Given the description of an element on the screen output the (x, y) to click on. 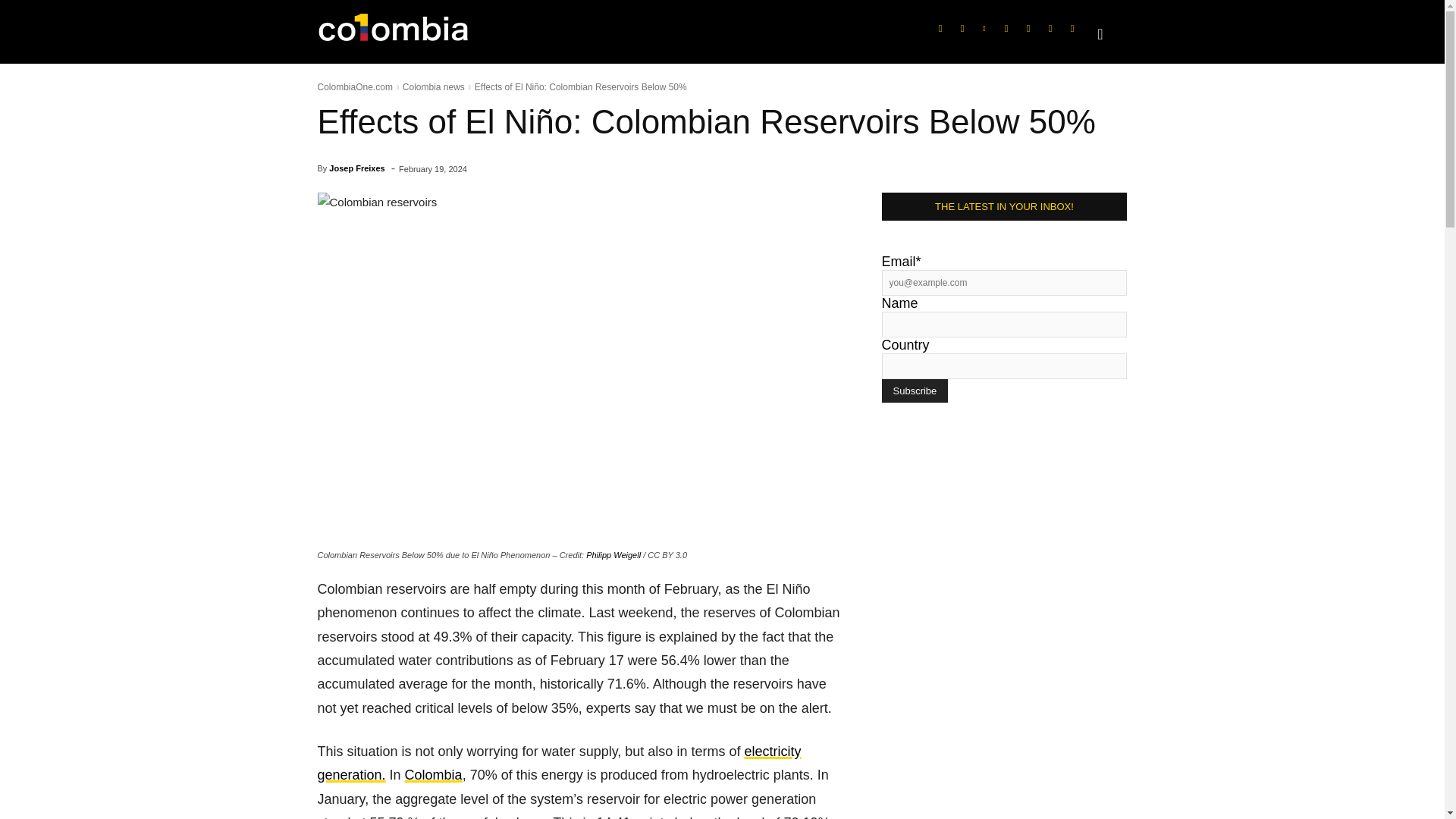
Twitter (1027, 28)
Youtube (1050, 28)
Instagram (962, 28)
Subscribe (913, 390)
TikTok (1005, 28)
Colombia One: News from Colombia (392, 31)
Linkedin (984, 28)
Facebook (940, 28)
Colombia One: News from Colombia (408, 31)
